Given the description of an element on the screen output the (x, y) to click on. 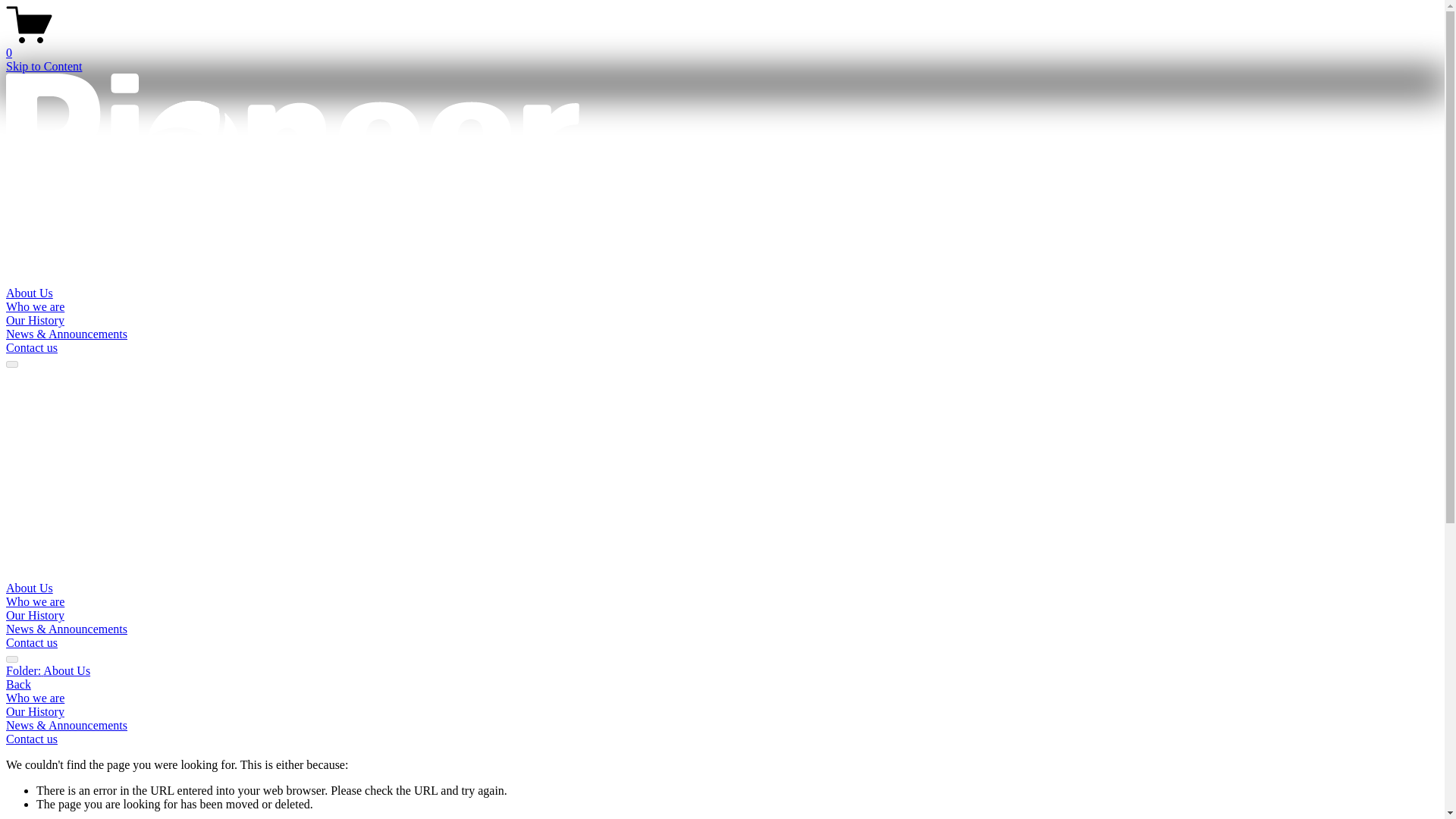
Who we are (34, 601)
Contact us (31, 738)
Who we are (34, 306)
Our History (34, 319)
Skip to Content (43, 65)
Contact us (31, 642)
Contact us (31, 347)
Our History (34, 615)
About Us (28, 292)
Back (17, 684)
About Us (28, 587)
